Given the description of an element on the screen output the (x, y) to click on. 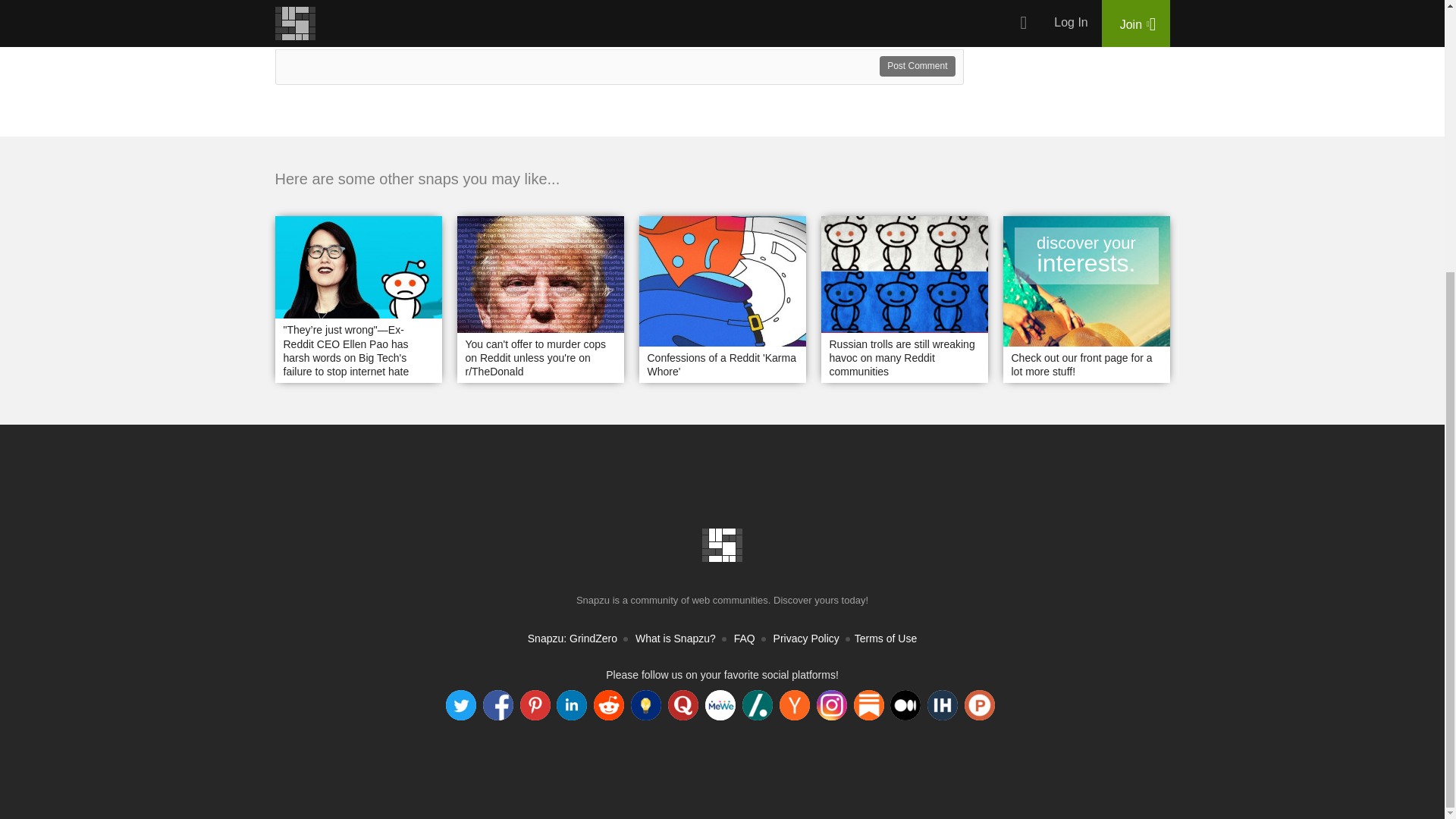
Substack (868, 705)
Twitter (460, 705)
ProductHunt (978, 705)
Minds (645, 705)
MeWe (719, 705)
Medium (904, 705)
Slashdot (757, 705)
IndieHackers (942, 705)
HackerNews (793, 705)
Pinterest (534, 705)
LinkedIn (571, 705)
Instagram (831, 705)
